Given the description of an element on the screen output the (x, y) to click on. 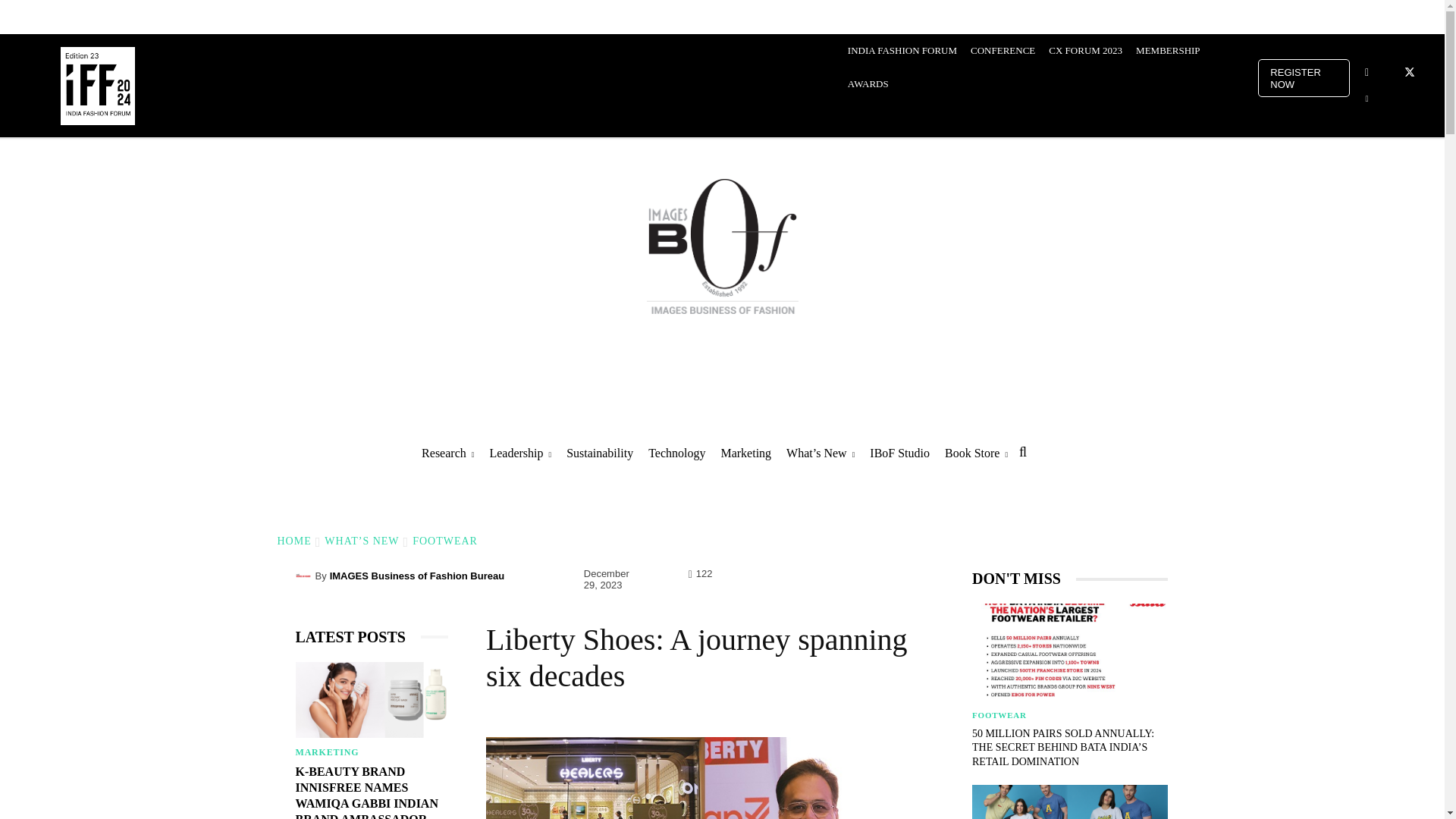
IMAGES BUSINESS OF FASHION (721, 248)
INDIA FASHION FORUM (902, 50)
Instagram (1365, 72)
Linkedin (1365, 98)
REGISTER NOW (1303, 78)
CONFERENCE (1002, 50)
IMAGES BUSINESS OF FASHION (721, 246)
INDIA FASHION FORUM (97, 84)
3rd party ad content (721, 395)
INDIA FASHION FORUM (97, 82)
